Given the description of an element on the screen output the (x, y) to click on. 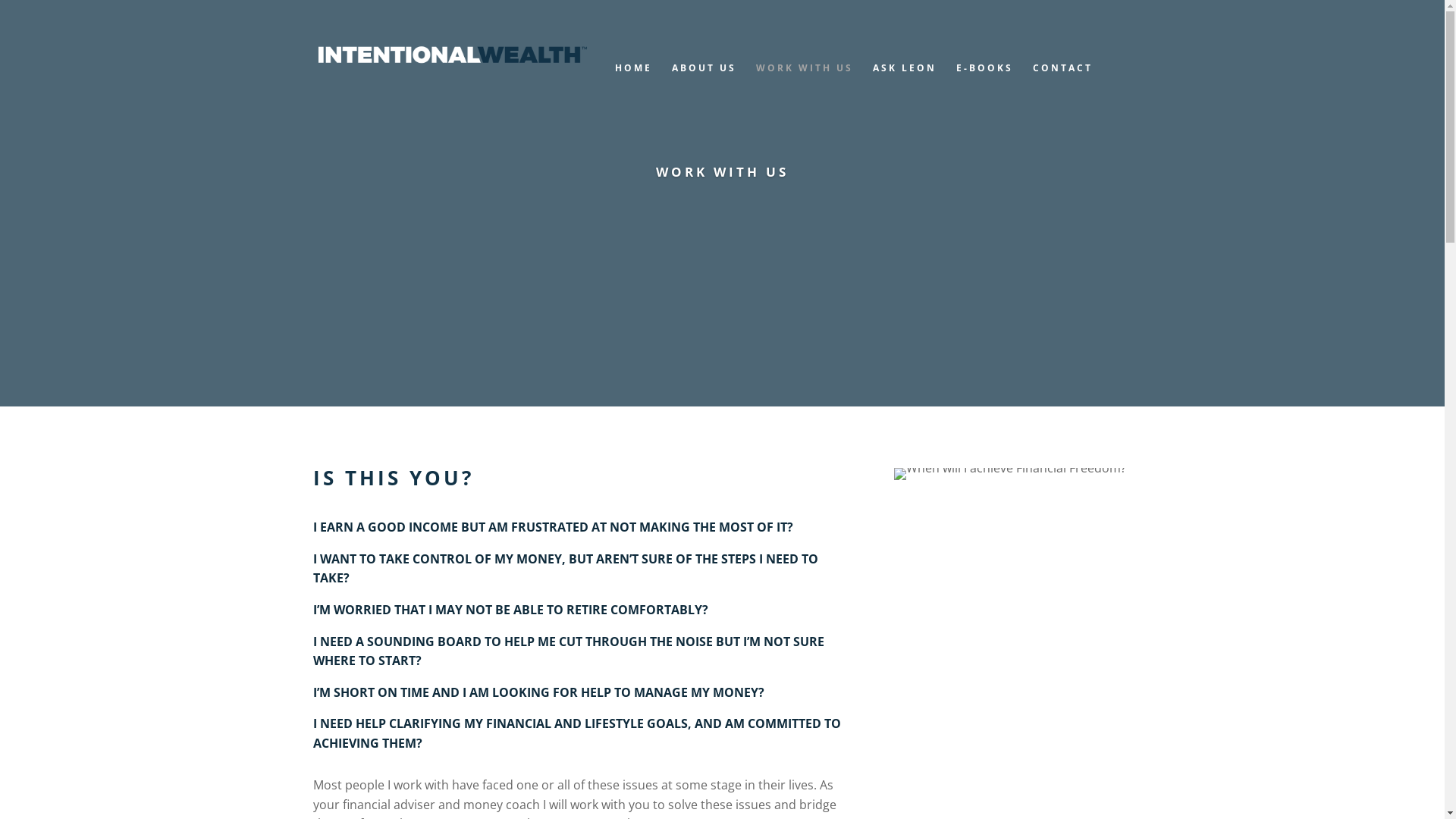
CONTACT Element type: text (1062, 82)
WORK WITH US Element type: text (803, 82)
HOME Element type: text (632, 82)
When will I achieve Financial Freedom? Element type: hover (1010, 473)
E-BOOKS Element type: text (983, 82)
ASK LEON Element type: text (903, 82)
ABOUT US Element type: text (703, 82)
